Given the description of an element on the screen output the (x, y) to click on. 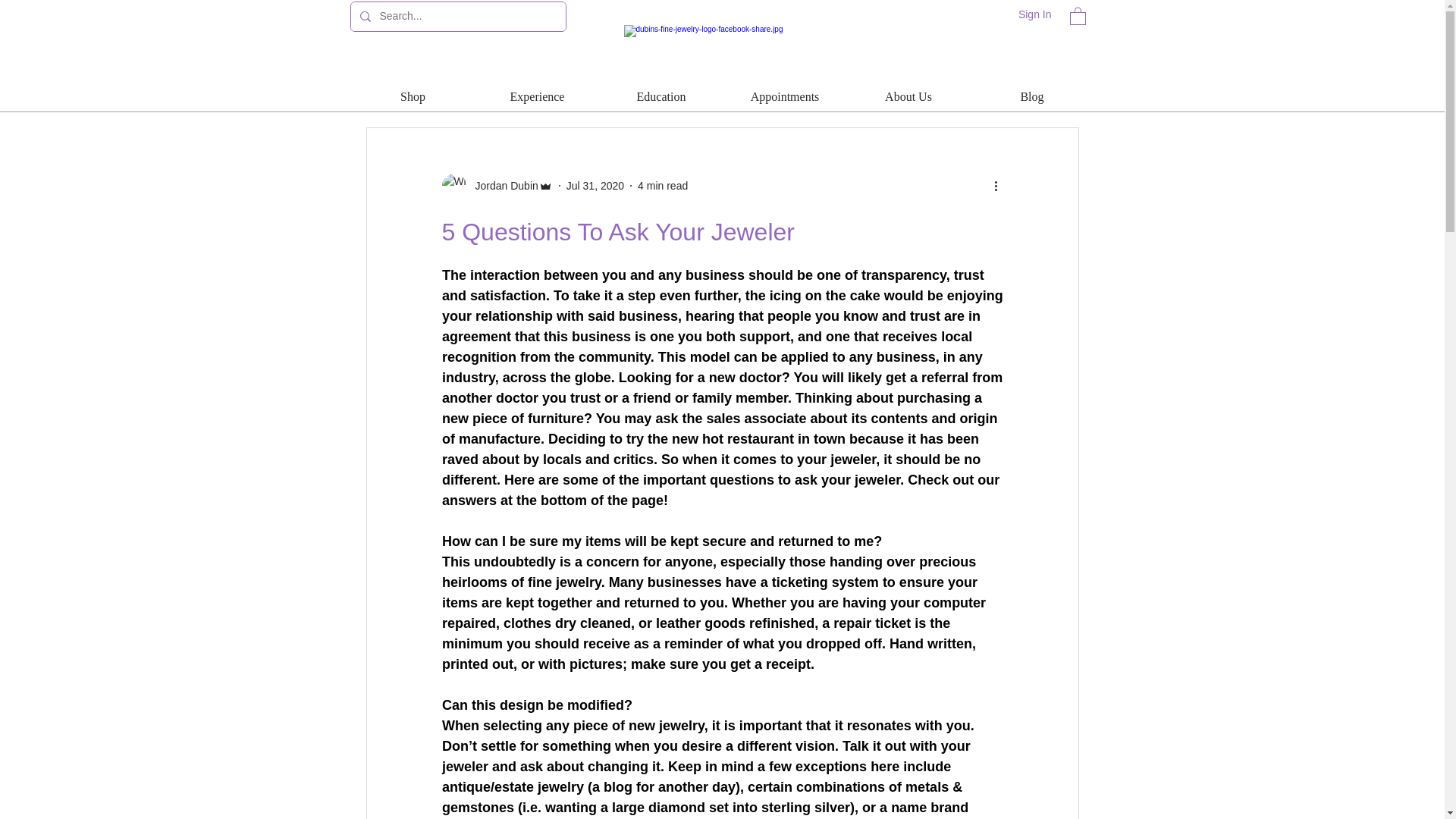
Sign In (1034, 15)
Blog (1032, 96)
Jul 31, 2020 (595, 184)
4 min read (662, 184)
Shop (412, 96)
Jordan Dubin (496, 185)
Jordan Dubin (501, 185)
Appointments (785, 96)
